Given the description of an element on the screen output the (x, y) to click on. 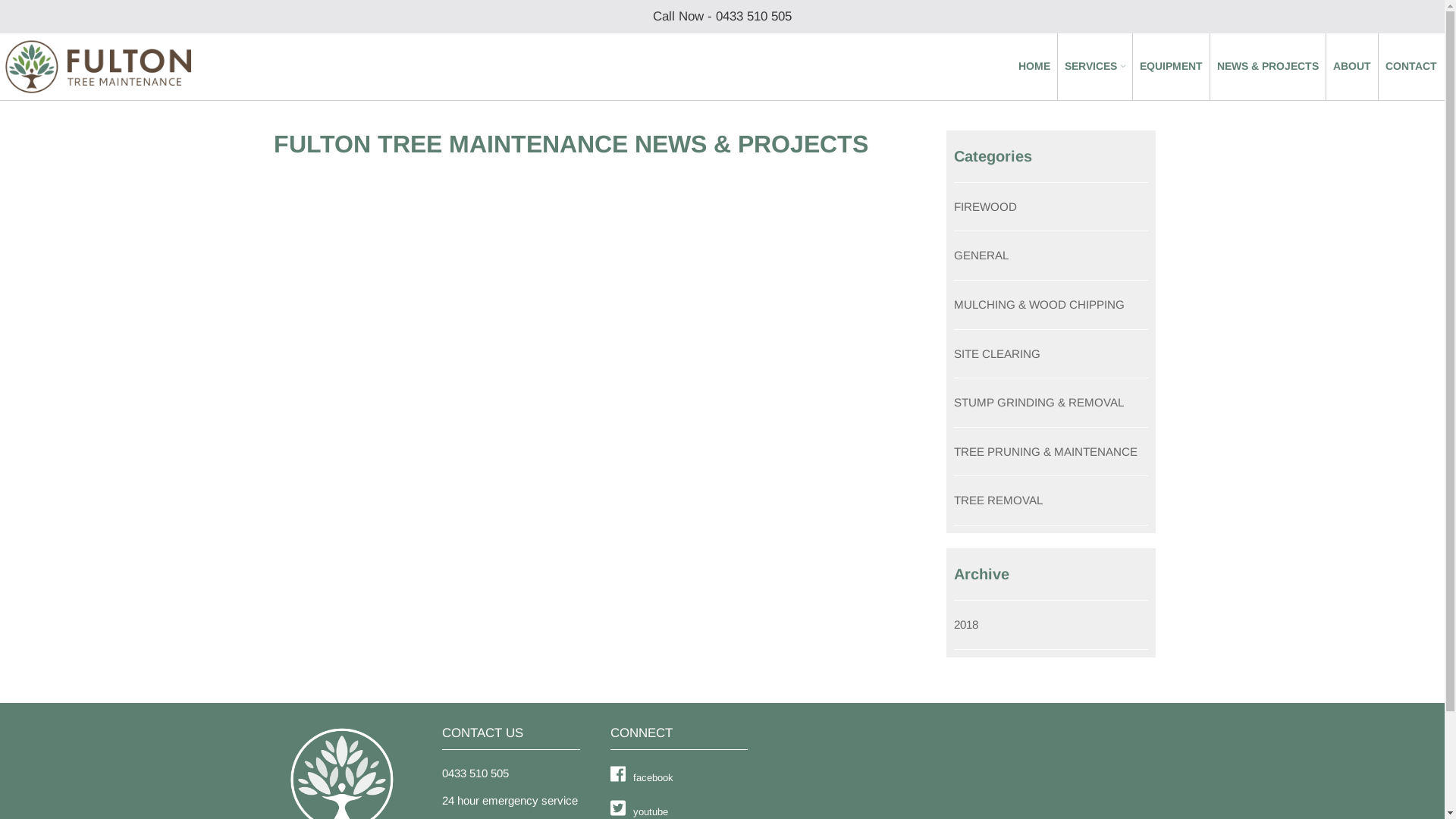
HOME Element type: text (1034, 66)
NEWS & PROJECTS Element type: text (1267, 66)
TREE PRUNING & MAINTENANCE Element type: text (1045, 451)
SITE CLEARING Element type: text (996, 353)
GENERAL Element type: text (980, 254)
youtube Element type: text (638, 809)
EQUIPMENT Element type: text (1170, 66)
CONTACT Element type: text (1411, 66)
FIREWOOD Element type: text (984, 206)
facebook Element type: text (640, 776)
TREE REMOVAL Element type: text (997, 499)
MULCHING & WOOD CHIPPING Element type: text (1038, 304)
STUMP GRINDING & REMOVAL Element type: text (1038, 401)
2018 Element type: text (965, 624)
ABOUT Element type: text (1352, 66)
SERVICES Element type: text (1094, 66)
